Given the description of an element on the screen output the (x, y) to click on. 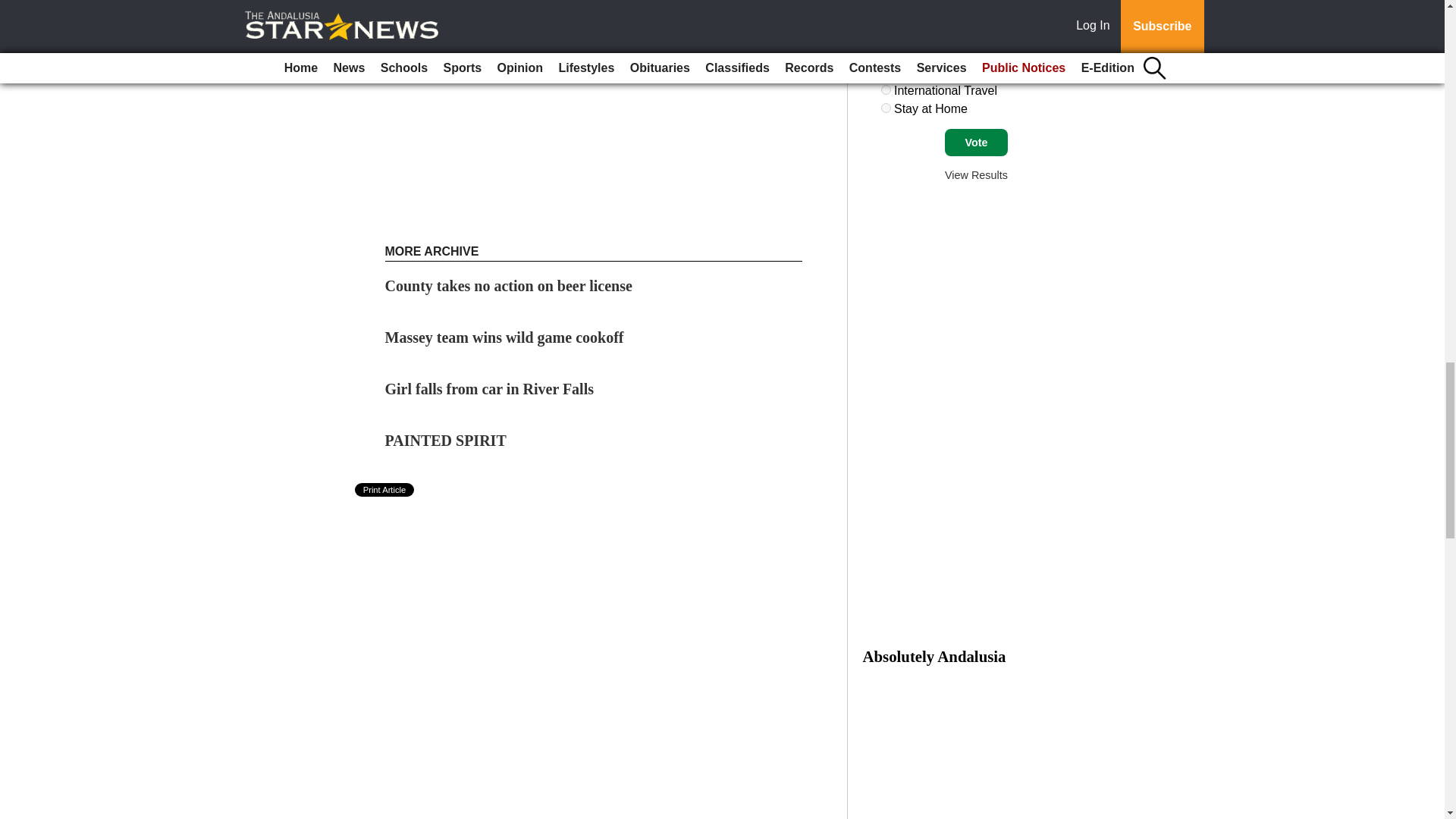
748 (885, 90)
View Results Of This Poll (975, 174)
Girl falls from car in River Falls (489, 388)
747 (885, 71)
Massey team wins wild game cookoff (504, 337)
749 (885, 108)
745 (885, 35)
Girl falls from car in River Falls (489, 388)
Massey team wins wild game cookoff (504, 337)
744 (885, 17)
County takes no action on beer license (508, 285)
View Results (975, 174)
746 (885, 53)
